Given the description of an element on the screen output the (x, y) to click on. 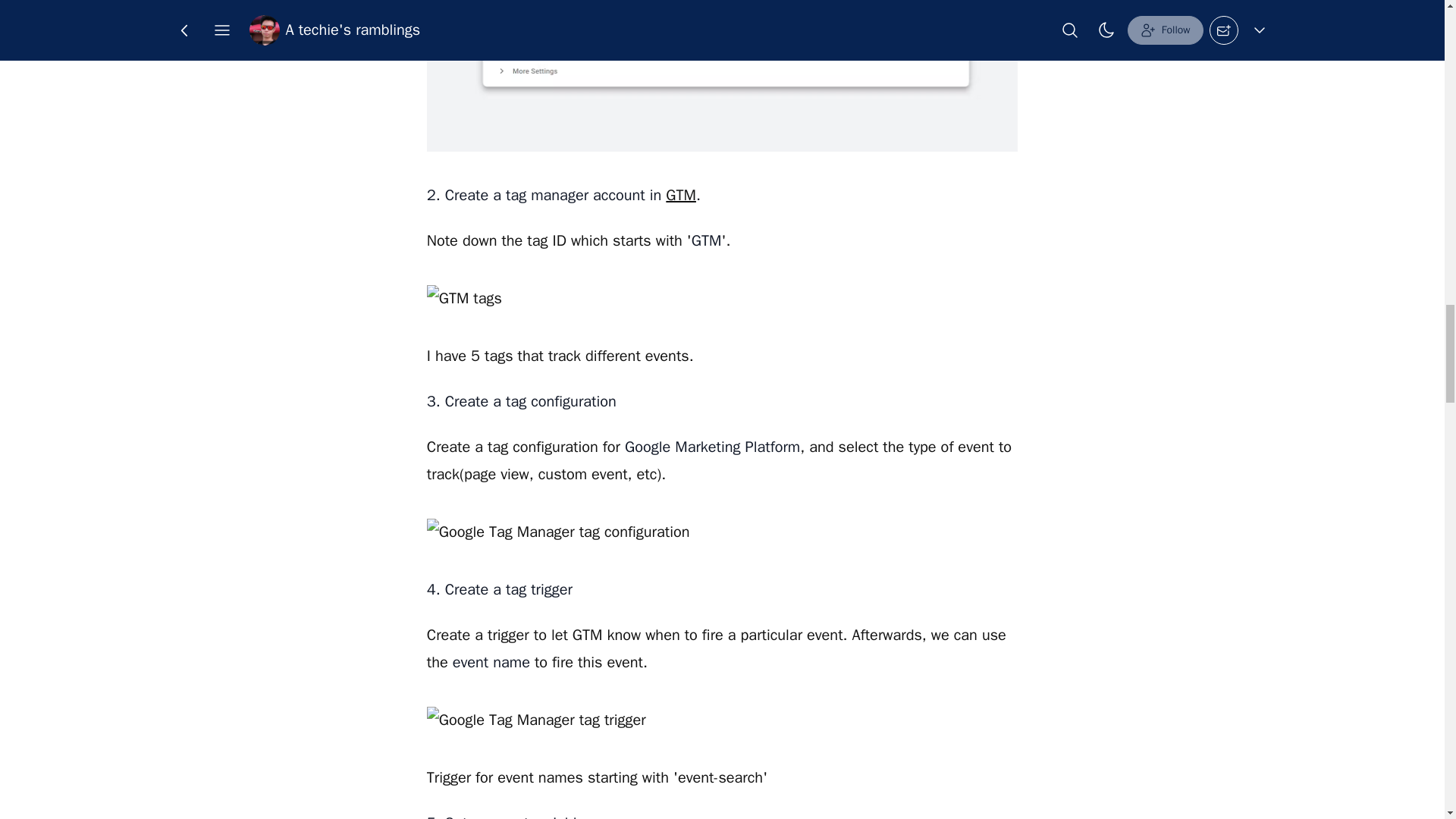
GTM (680, 194)
